Given the description of an element on the screen output the (x, y) to click on. 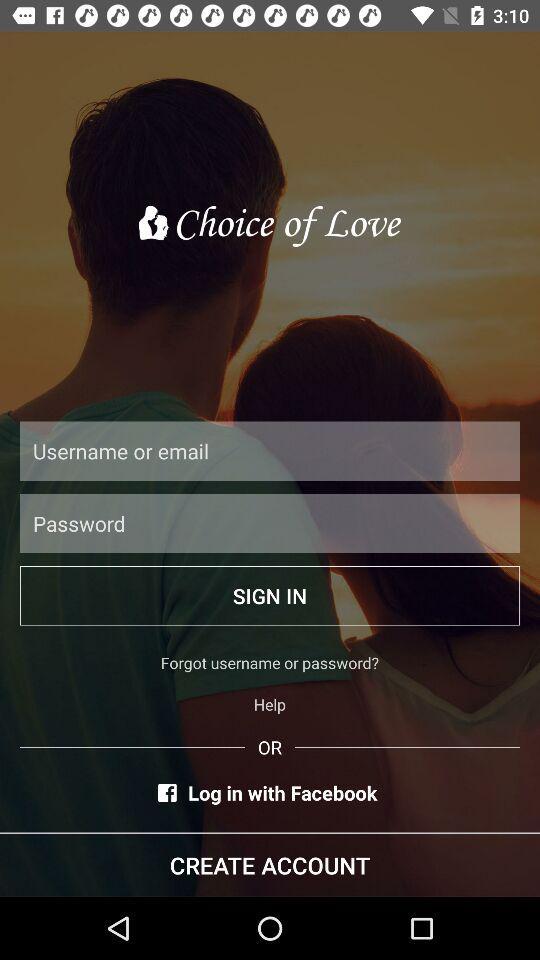
enter password (269, 523)
